Given the description of an element on the screen output the (x, y) to click on. 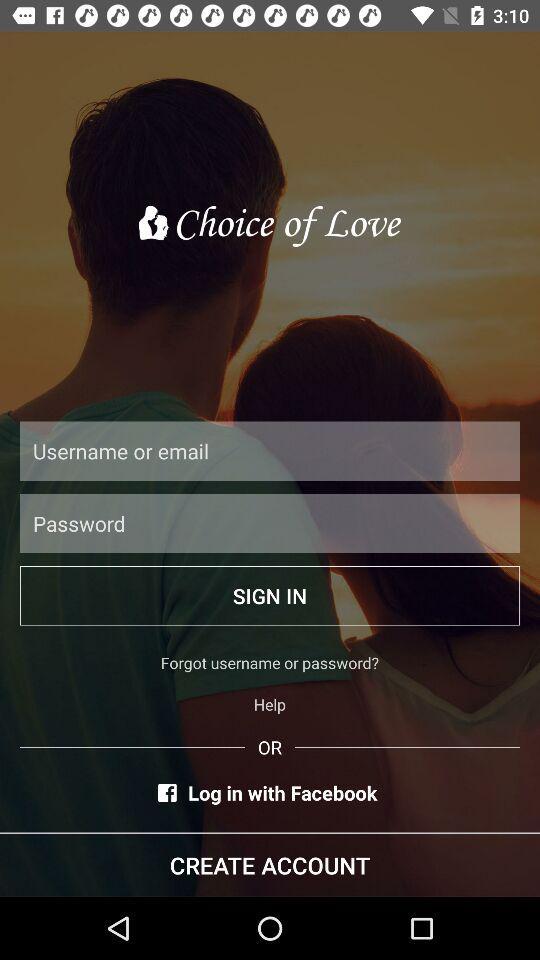
enter password (269, 523)
